Given the description of an element on the screen output the (x, y) to click on. 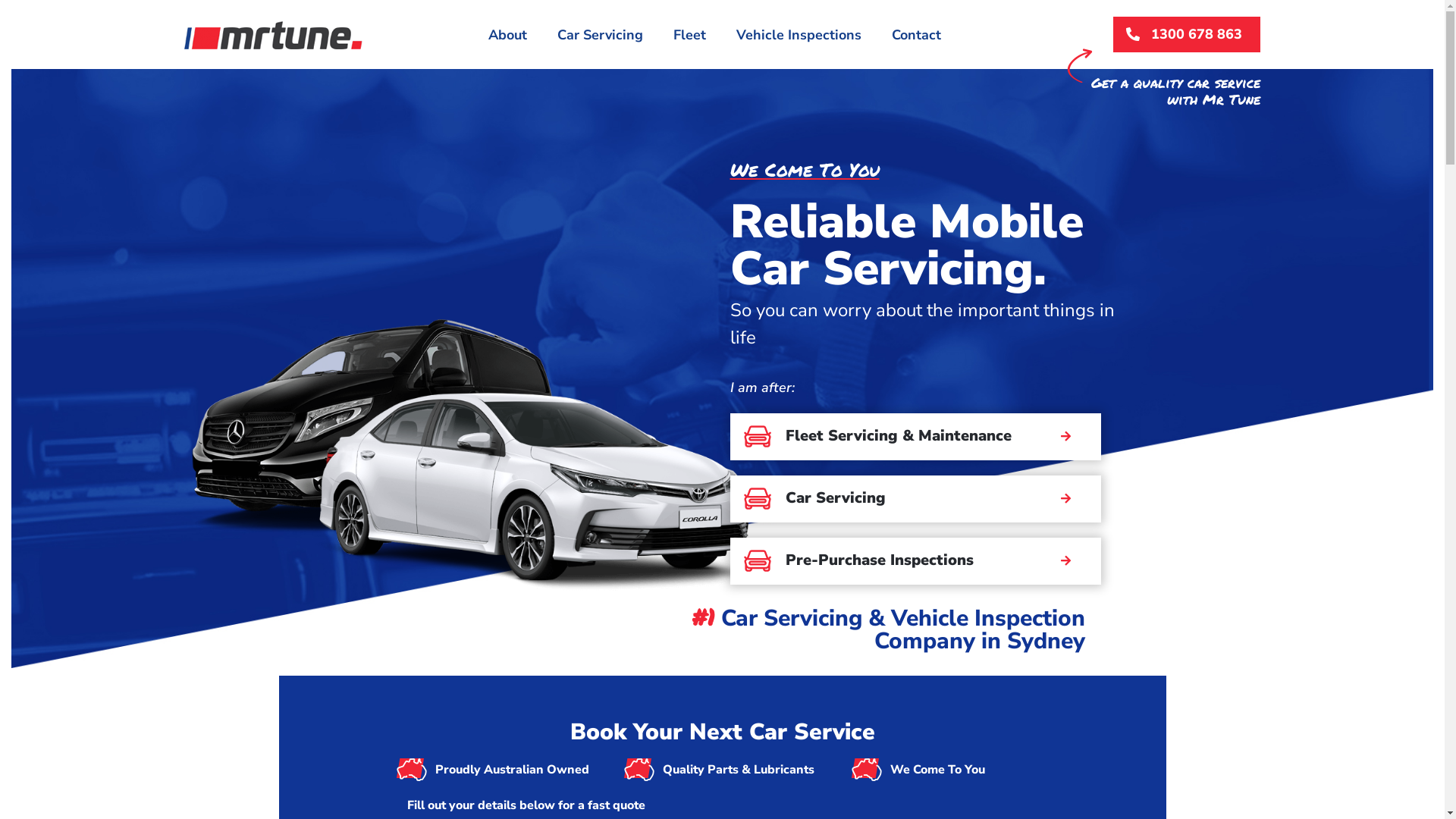
Fleet Servicing & Maintenance Element type: text (915, 436)
Car Servicing Element type: text (600, 34)
About Element type: text (507, 34)
Fleet Element type: text (689, 34)
Pre-Purchase Inspections Element type: text (915, 560)
Contact Element type: text (916, 34)
Car Servicing Element type: text (915, 498)
1300 678 863 Element type: text (1186, 34)
Vehicle Inspections Element type: text (798, 34)
